Given the description of an element on the screen output the (x, y) to click on. 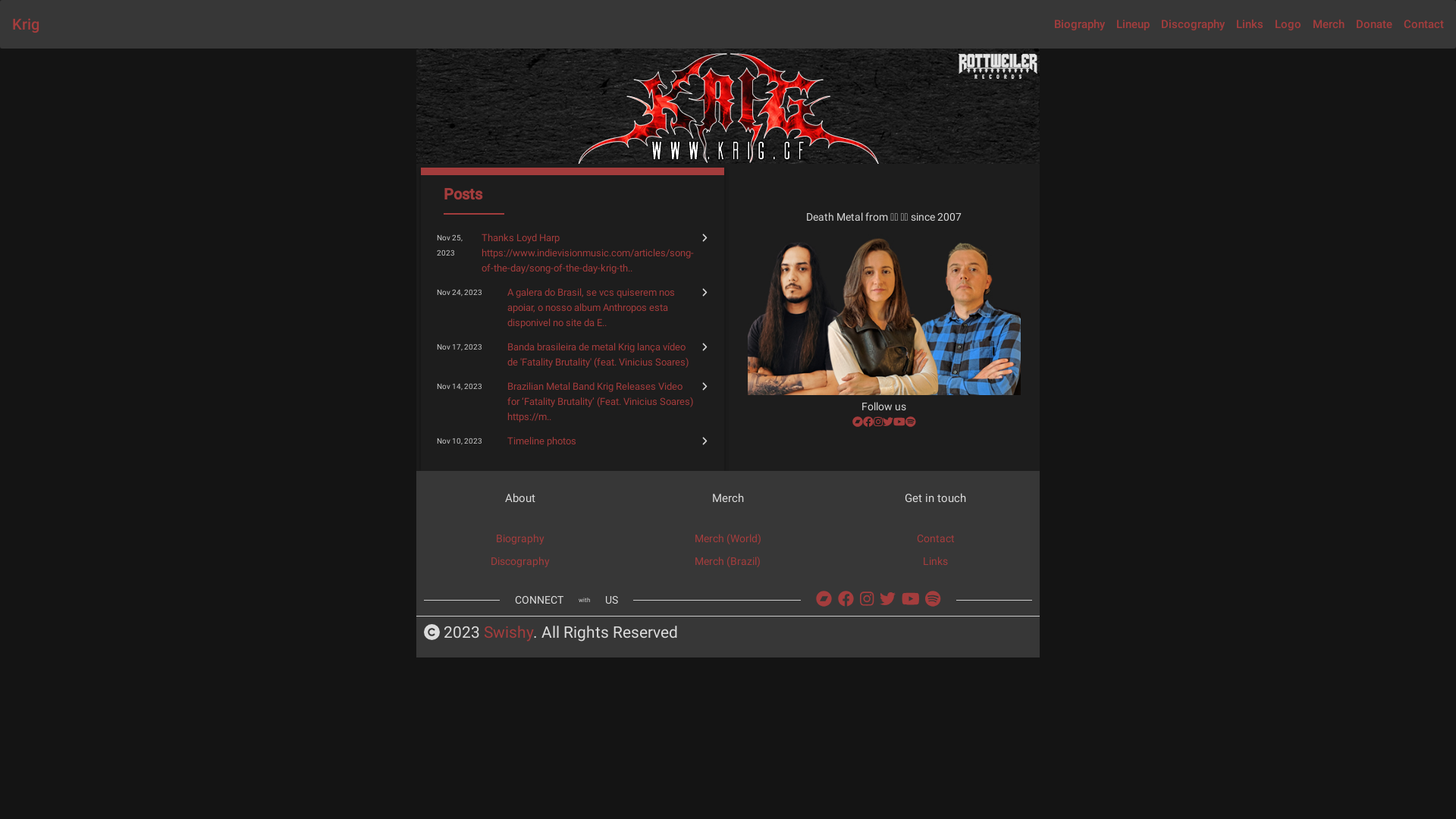
Facebook Element type: hover (845, 598)
Contact Element type: text (1423, 24)
Twitter Element type: hover (887, 421)
Logo Element type: text (1287, 24)
Contact Element type: text (935, 538)
Swishy Element type: text (508, 633)
Youtube Element type: hover (899, 421)
Krig Element type: text (25, 24)
Timeline photos Element type: text (541, 440)
Discography Element type: text (1192, 24)
Facebook Element type: hover (867, 421)
Twitter Element type: hover (887, 598)
Biography Element type: text (1079, 24)
Discography Element type: text (519, 561)
Spotify Element type: hover (910, 421)
Instagram Element type: hover (877, 421)
Merch (World) Element type: text (727, 538)
Youtube Element type: hover (910, 598)
Donate Element type: text (1373, 24)
Merch Element type: text (1328, 24)
Links Element type: text (934, 561)
Merch (Brazil) Element type: text (727, 561)
Bandcamp Element type: hover (857, 421)
Links Element type: text (1249, 24)
Bandcamp Element type: hover (823, 598)
Spotify Element type: hover (932, 598)
Biography Element type: text (519, 538)
Lineup Element type: text (1132, 24)
Instagram Element type: hover (866, 598)
